Given the description of an element on the screen output the (x, y) to click on. 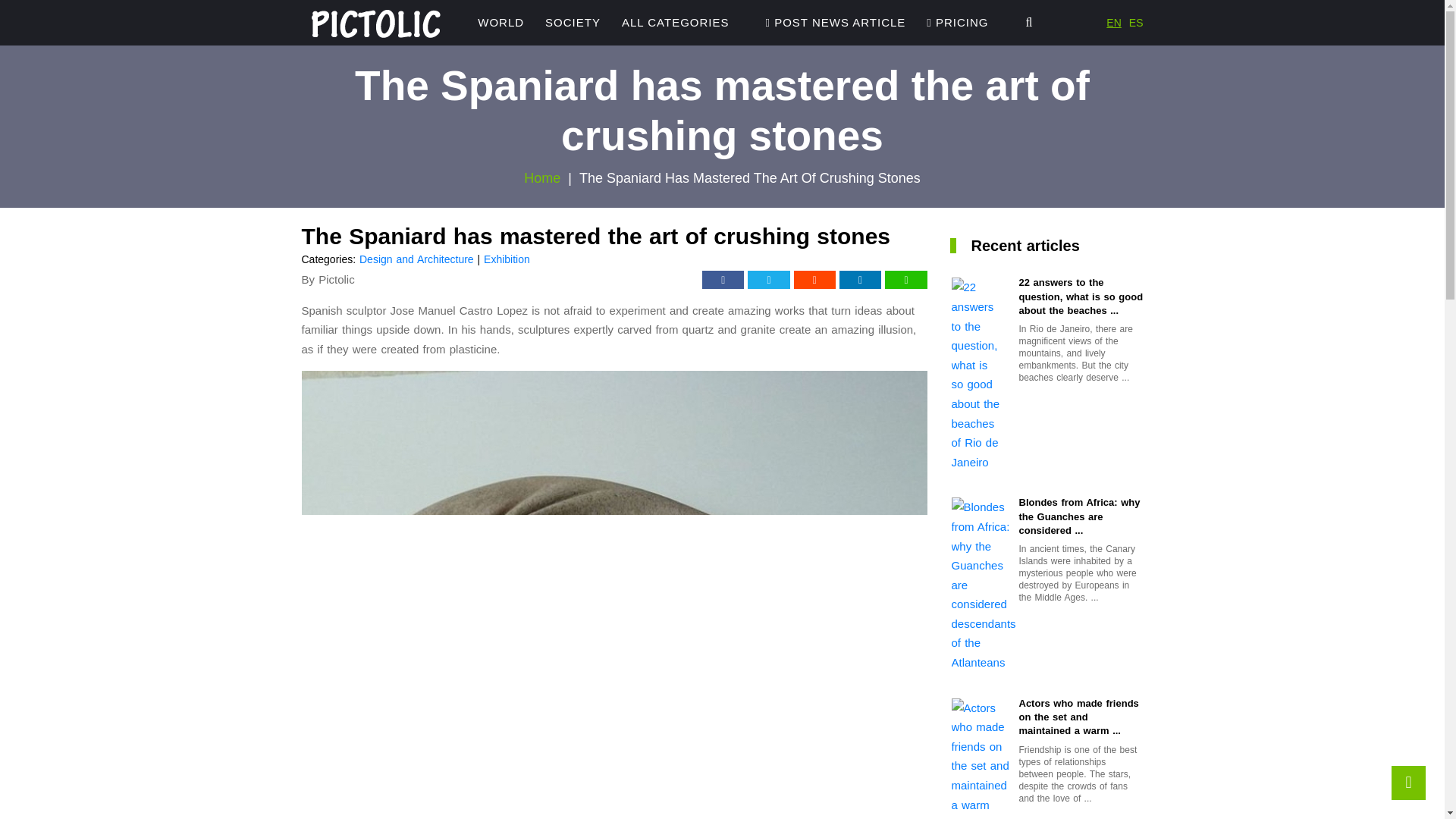
Exhibition (506, 259)
Society (572, 22)
Home (542, 177)
PRICING (956, 22)
Design and Architecture (416, 259)
Design and Architecture (416, 259)
Facebook (722, 280)
Blondes from Africa: why the Guanches are considered ... (1080, 516)
All Categories (675, 22)
